Given the description of an element on the screen output the (x, y) to click on. 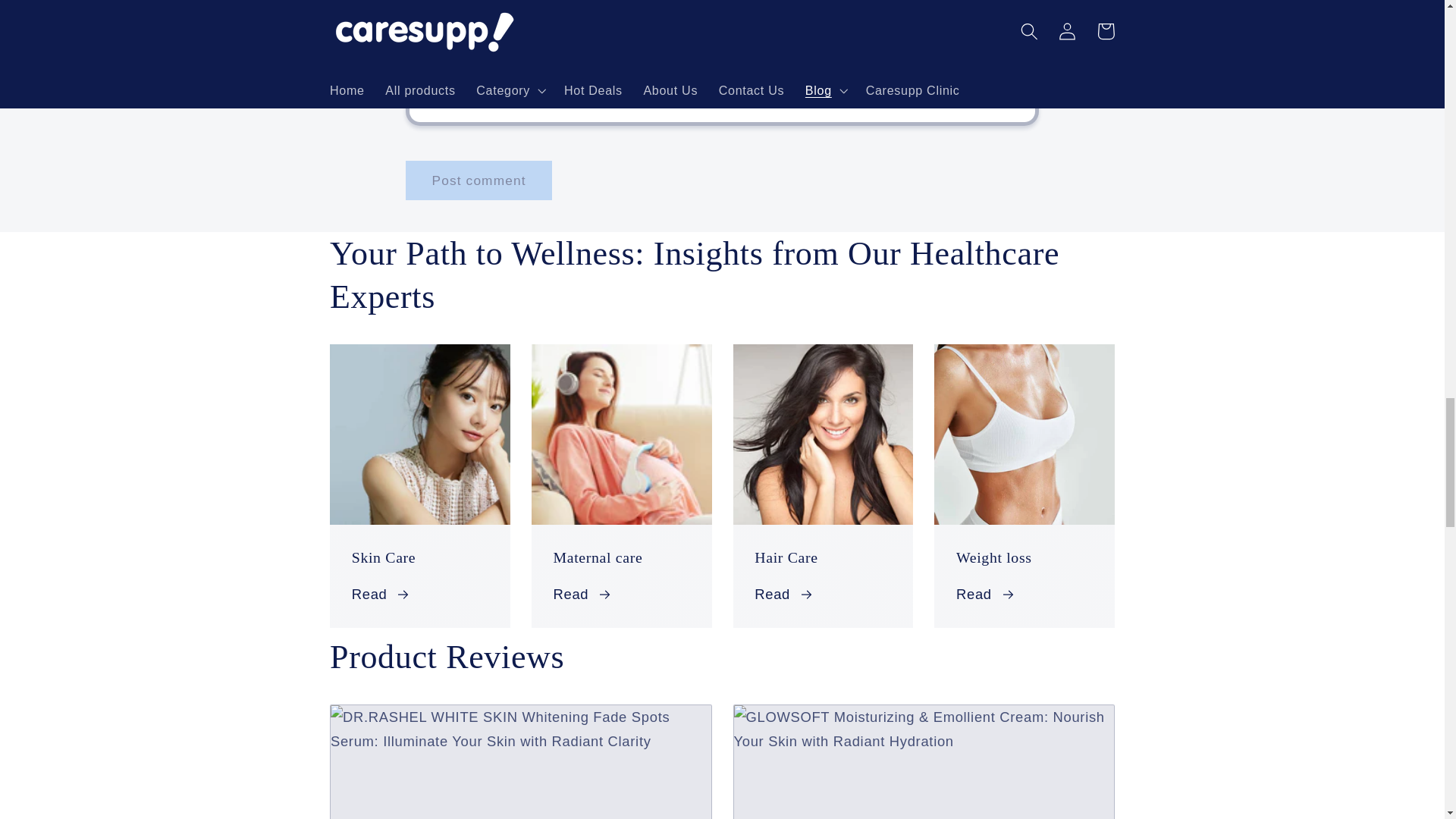
Post comment (478, 179)
